Given the description of an element on the screen output the (x, y) to click on. 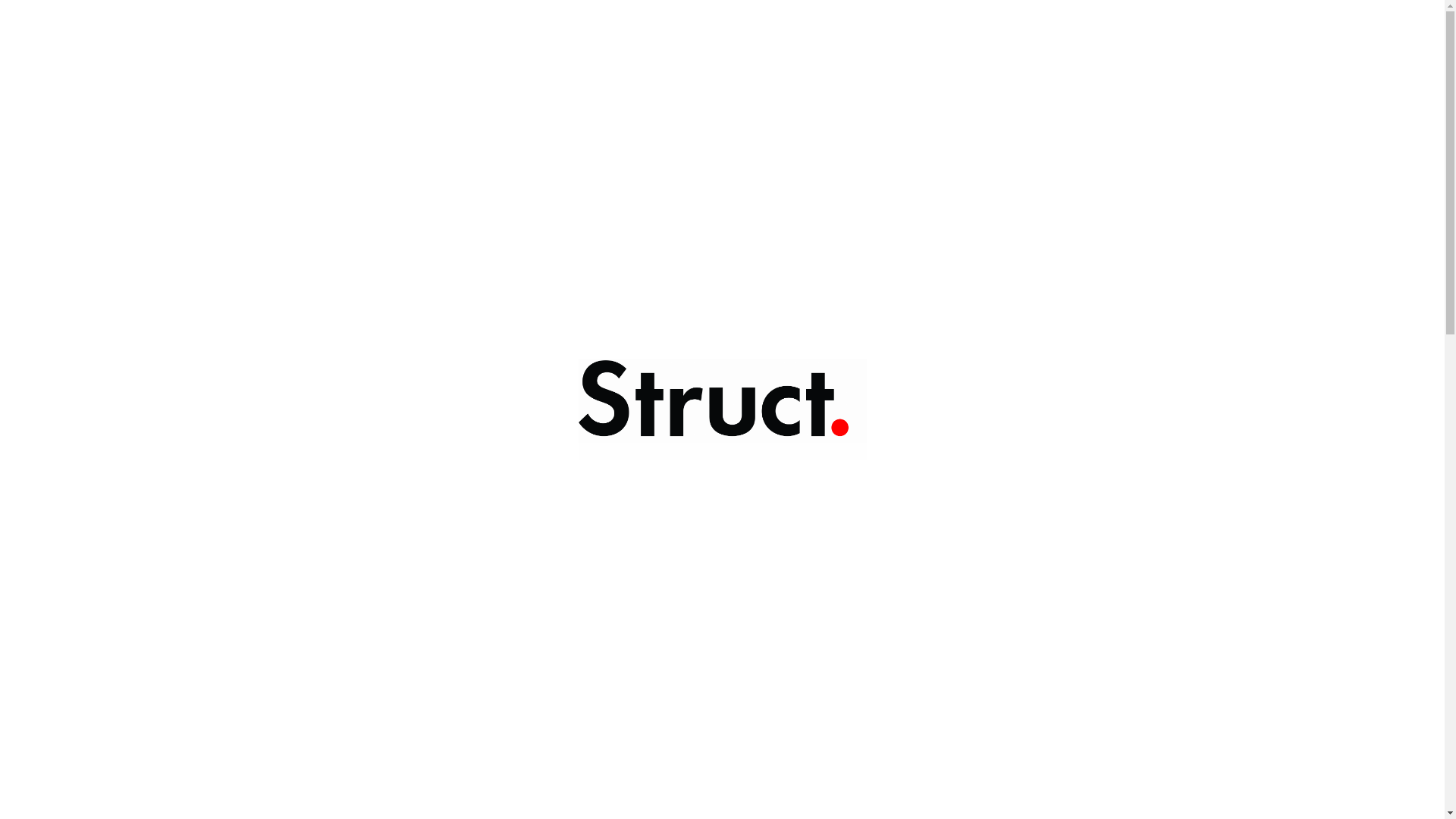
ABOUT Element type: text (799, 95)
APPROACH Element type: text (874, 95)
CONTACT Element type: text (955, 95)
HOME Element type: text (649, 95)
PORTFOLIO Element type: text (723, 95)
